Given the description of an element on the screen output the (x, y) to click on. 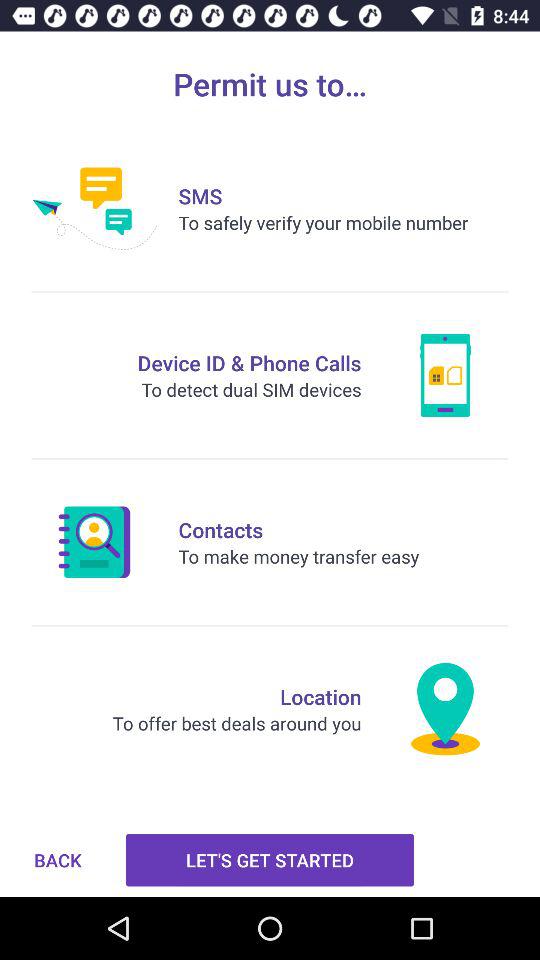
tap the item to the left of let s get icon (57, 859)
